Given the description of an element on the screen output the (x, y) to click on. 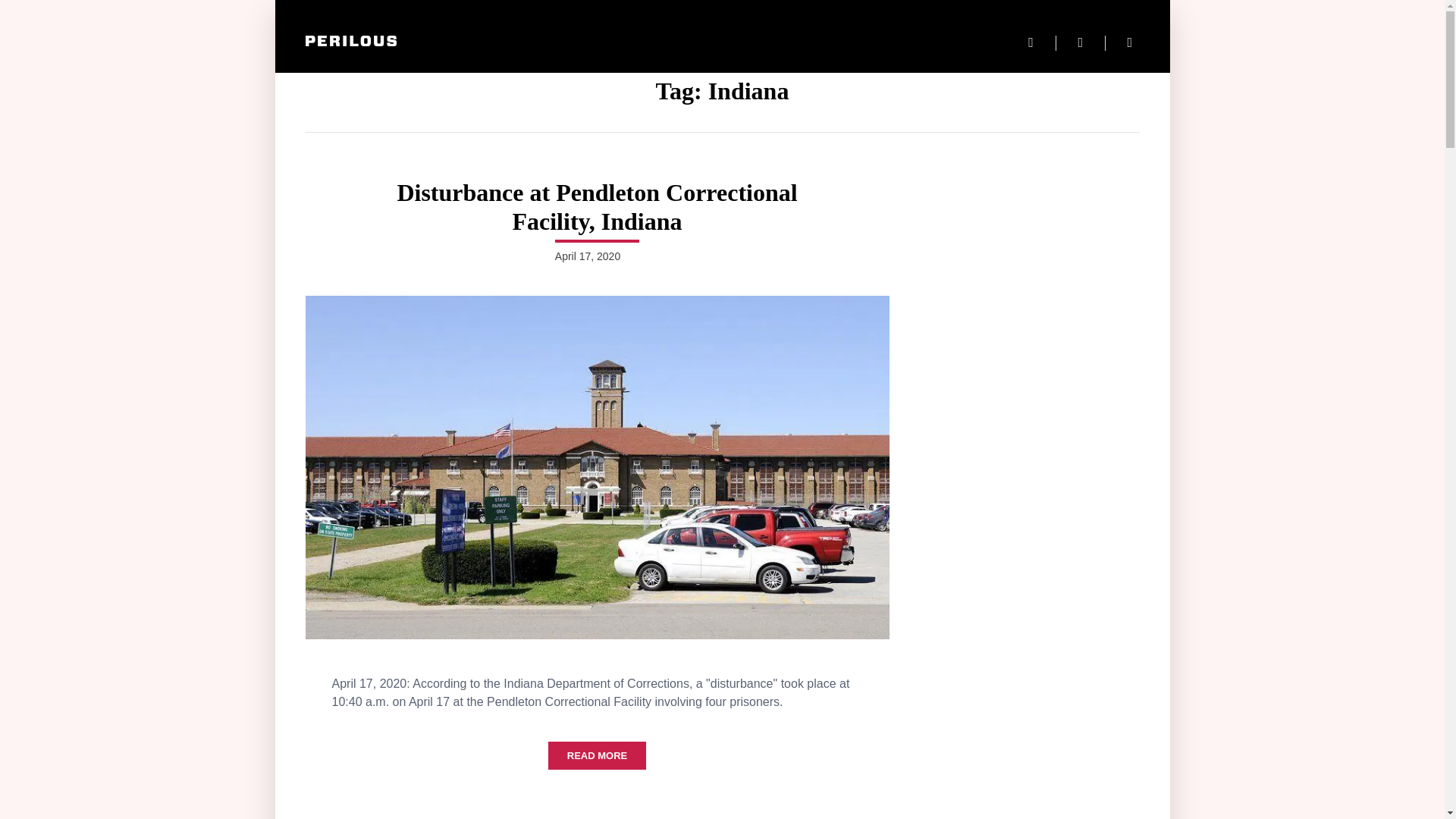
Disturbance at Pendleton Correctional Facility, Indiana (596, 207)
April 17, 2020 (587, 256)
Logo (350, 40)
